Given the description of an element on the screen output the (x, y) to click on. 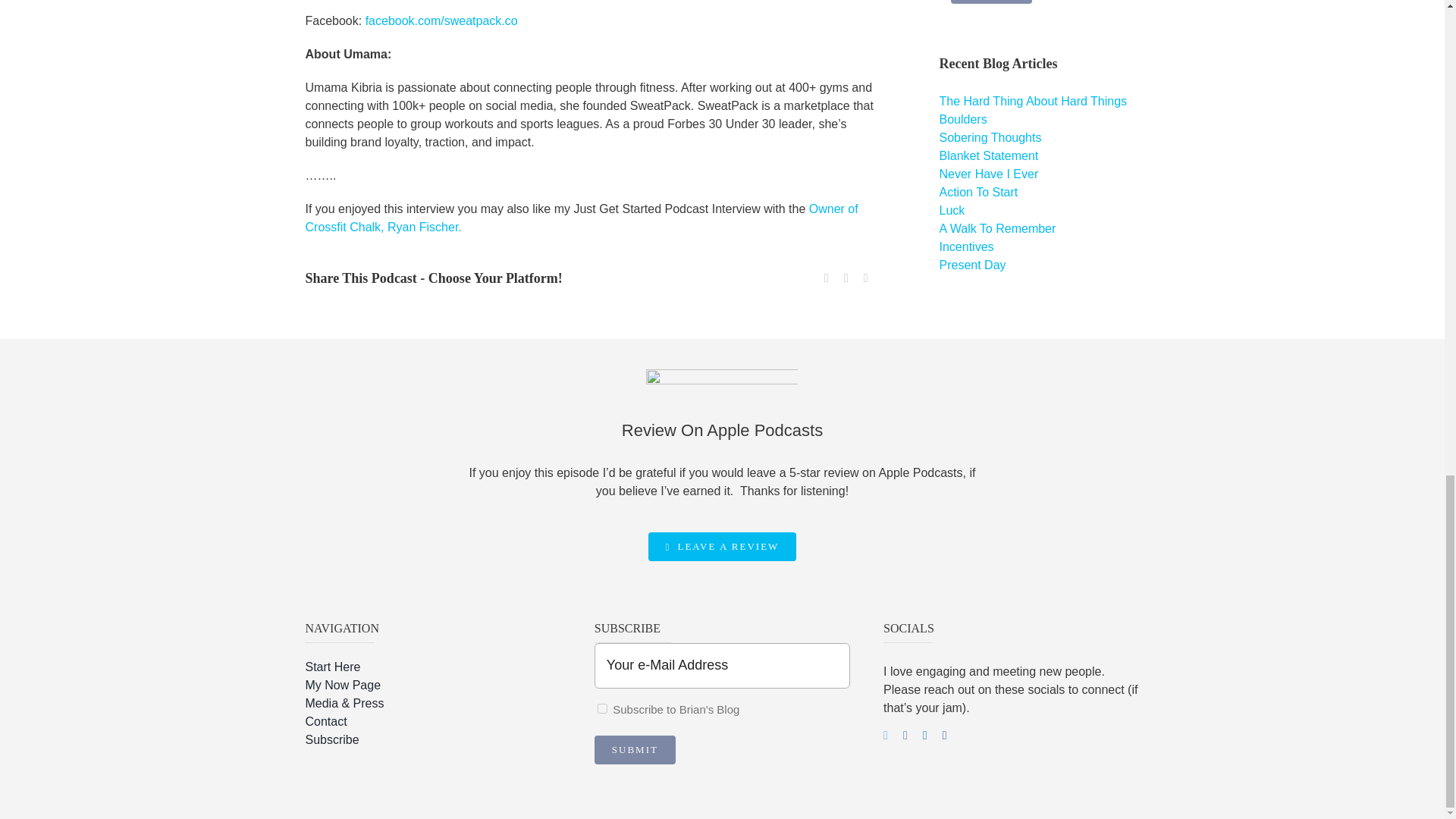
Submit (991, 2)
Twitter (825, 278)
Reddit (845, 278)
Subscribe to Brian's Blog (601, 708)
Submit (634, 749)
LinkedIn (866, 278)
